Given the description of an element on the screen output the (x, y) to click on. 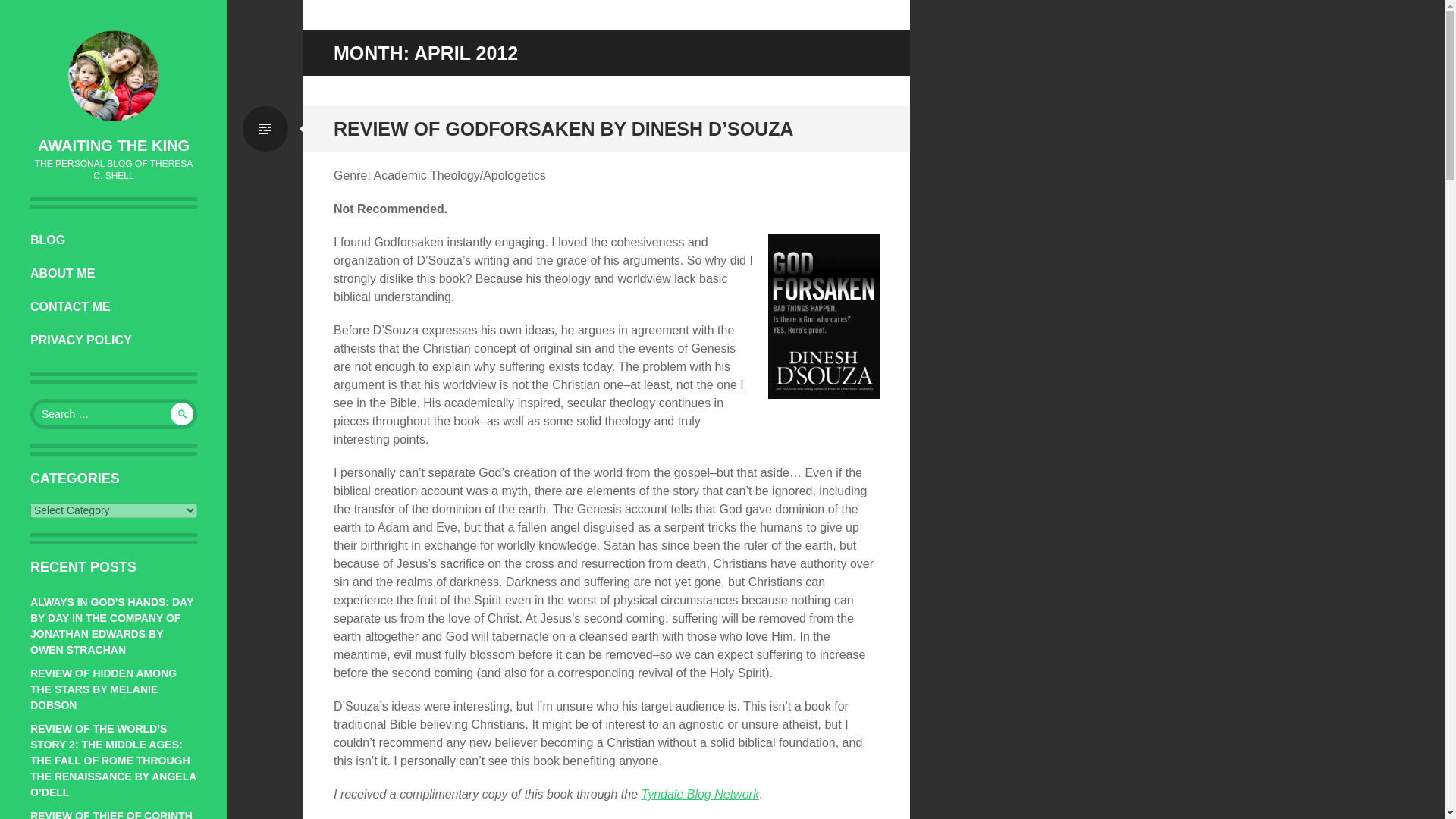
Skip to content (85, 240)
Awaiting the King (113, 75)
Awaiting the King (113, 145)
PRIVACY POLICY (113, 340)
REVIEW OF HIDDEN AMONG THE STARS BY MELANIE DOBSON (103, 689)
REVIEW OF THIEF OF CORINTH BY TESSA AFSHAR (111, 814)
Search for: (113, 413)
CONTACT ME (113, 306)
ABOUT ME (113, 273)
BLOG (113, 240)
SKIP TO CONTENT (85, 240)
AWAITING THE KING (113, 145)
